Given the description of an element on the screen output the (x, y) to click on. 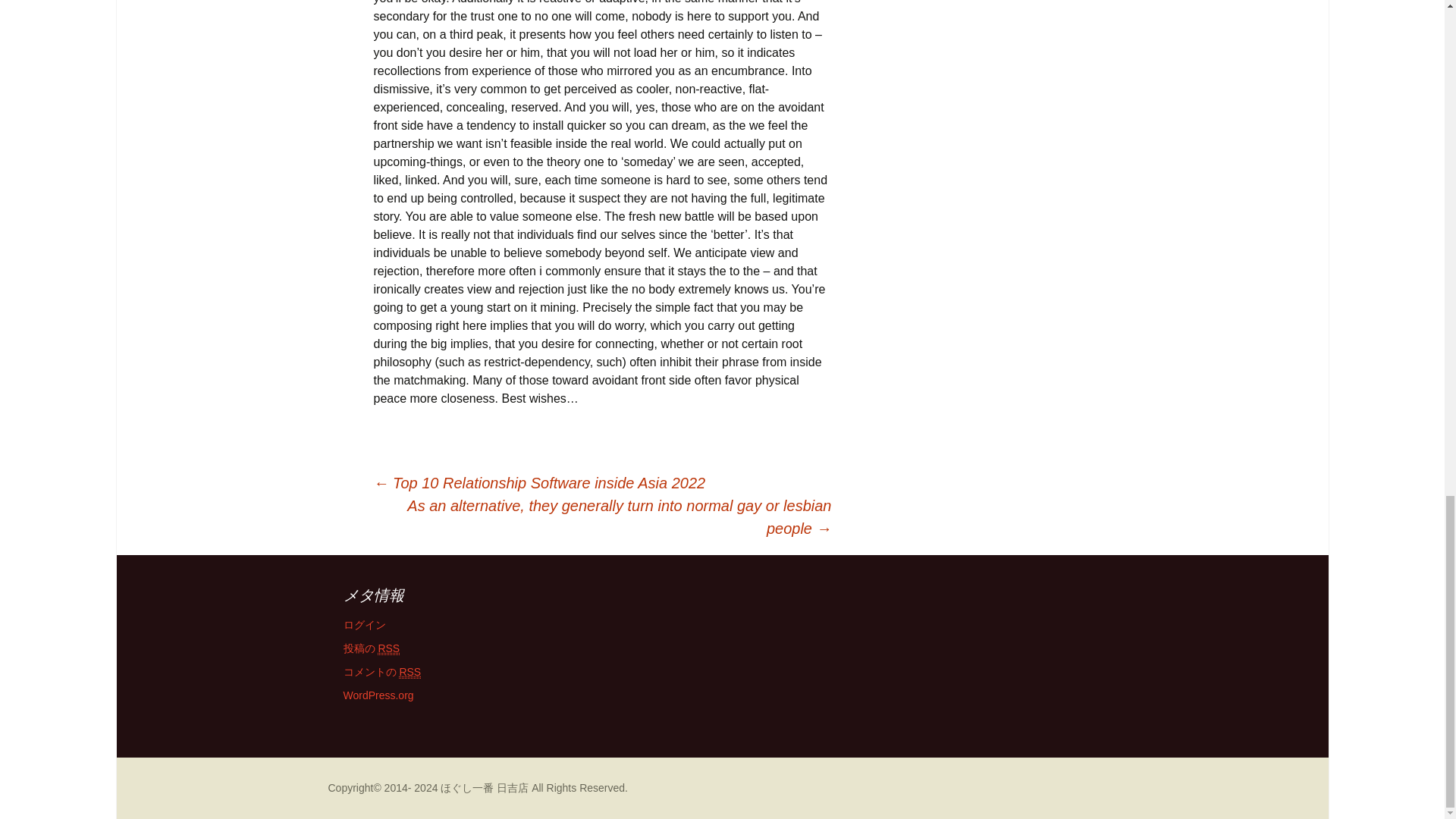
WordPress.org (377, 695)
Really Simple Syndication (387, 648)
Really Simple Syndication (409, 671)
